Given the description of an element on the screen output the (x, y) to click on. 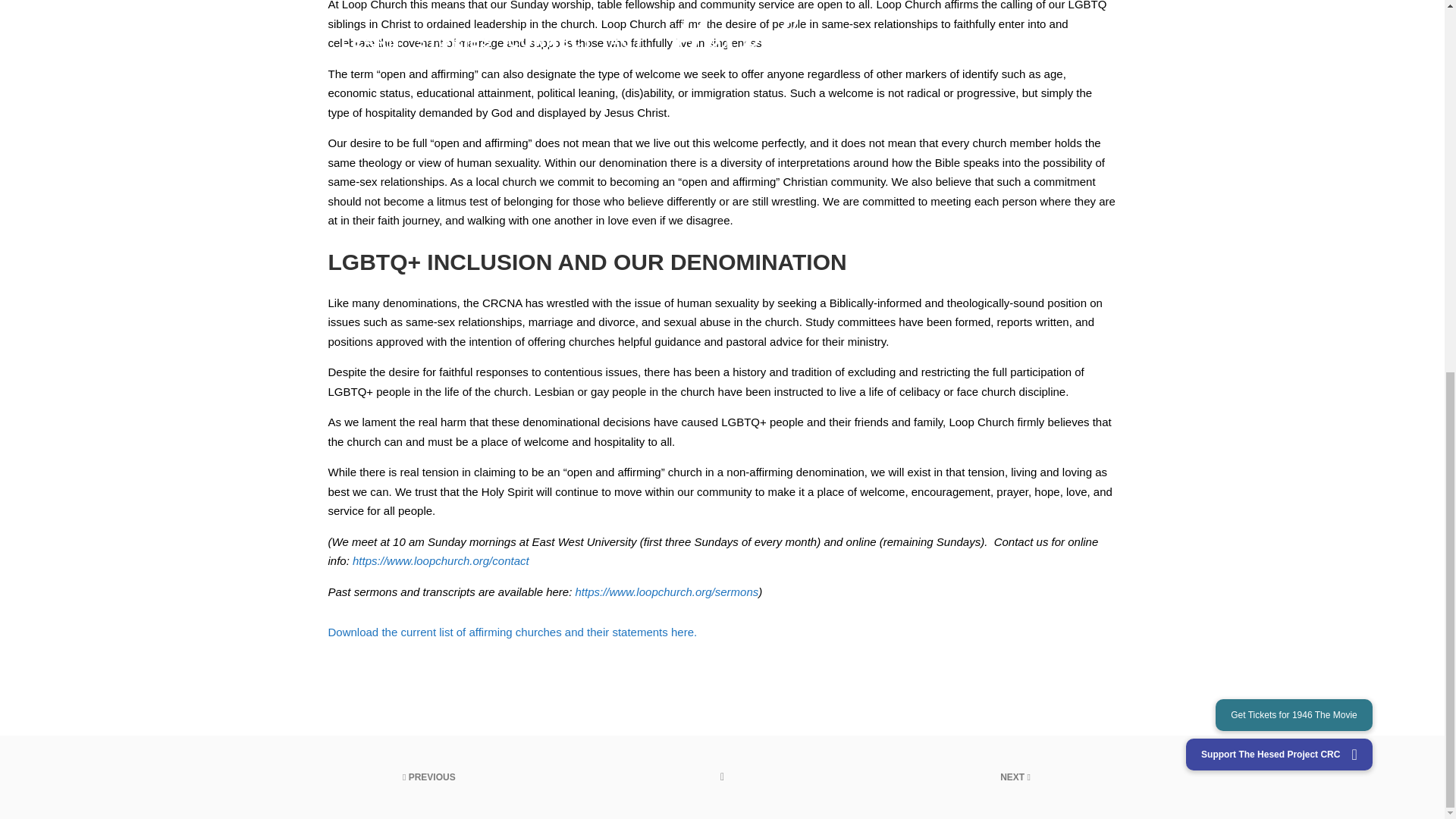
Support The Hesed Project CRC (1279, 75)
Get Tickets for 1946 The Movie (1294, 36)
